Given the description of an element on the screen output the (x, y) to click on. 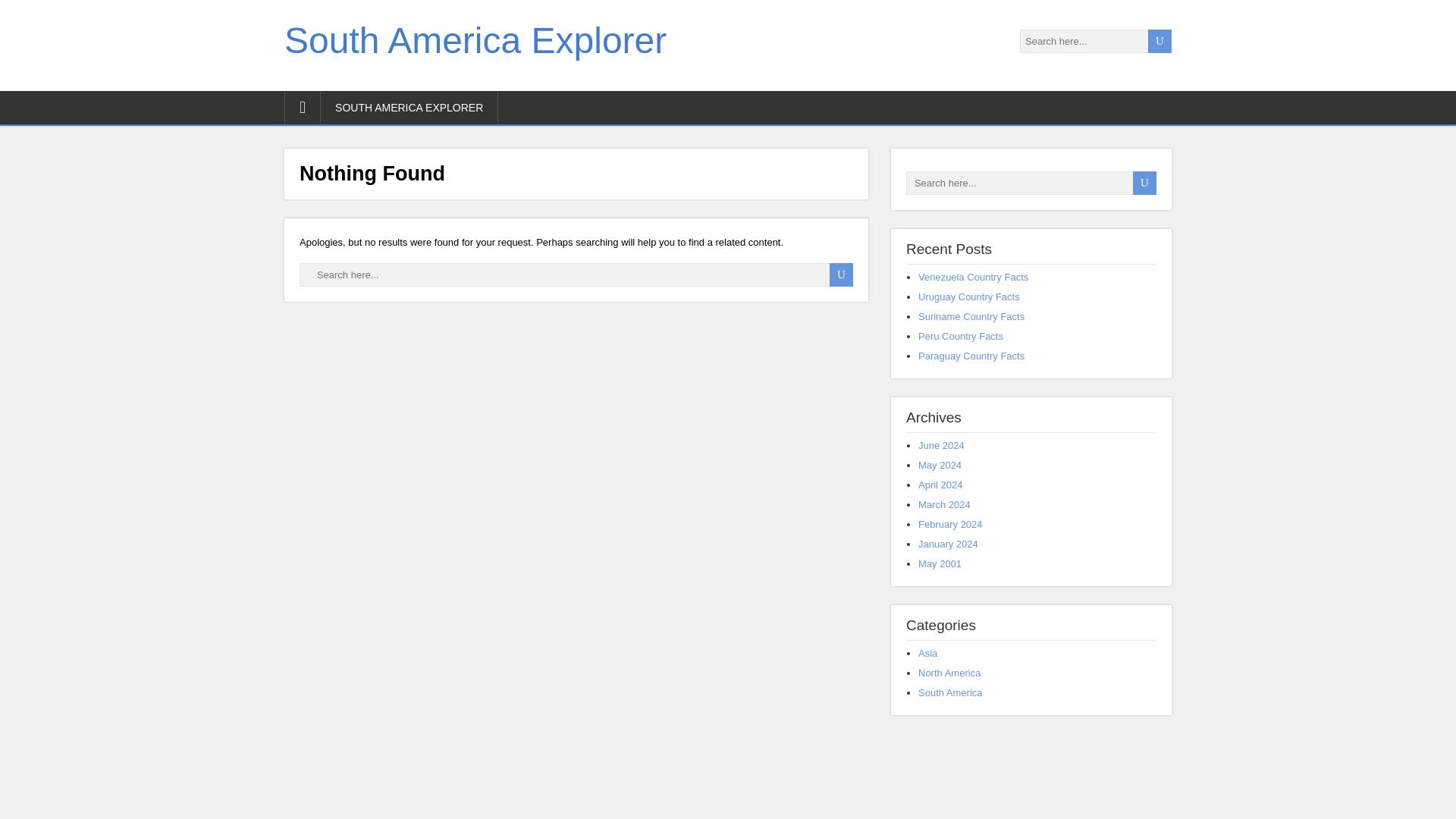
Peru Country Facts (960, 336)
U (1160, 41)
U (841, 274)
U (1160, 41)
U (841, 274)
Paraguay Country Facts (971, 355)
Asia (927, 653)
North America (948, 672)
March 2024 (944, 504)
May 2024 (939, 464)
